Given the description of an element on the screen output the (x, y) to click on. 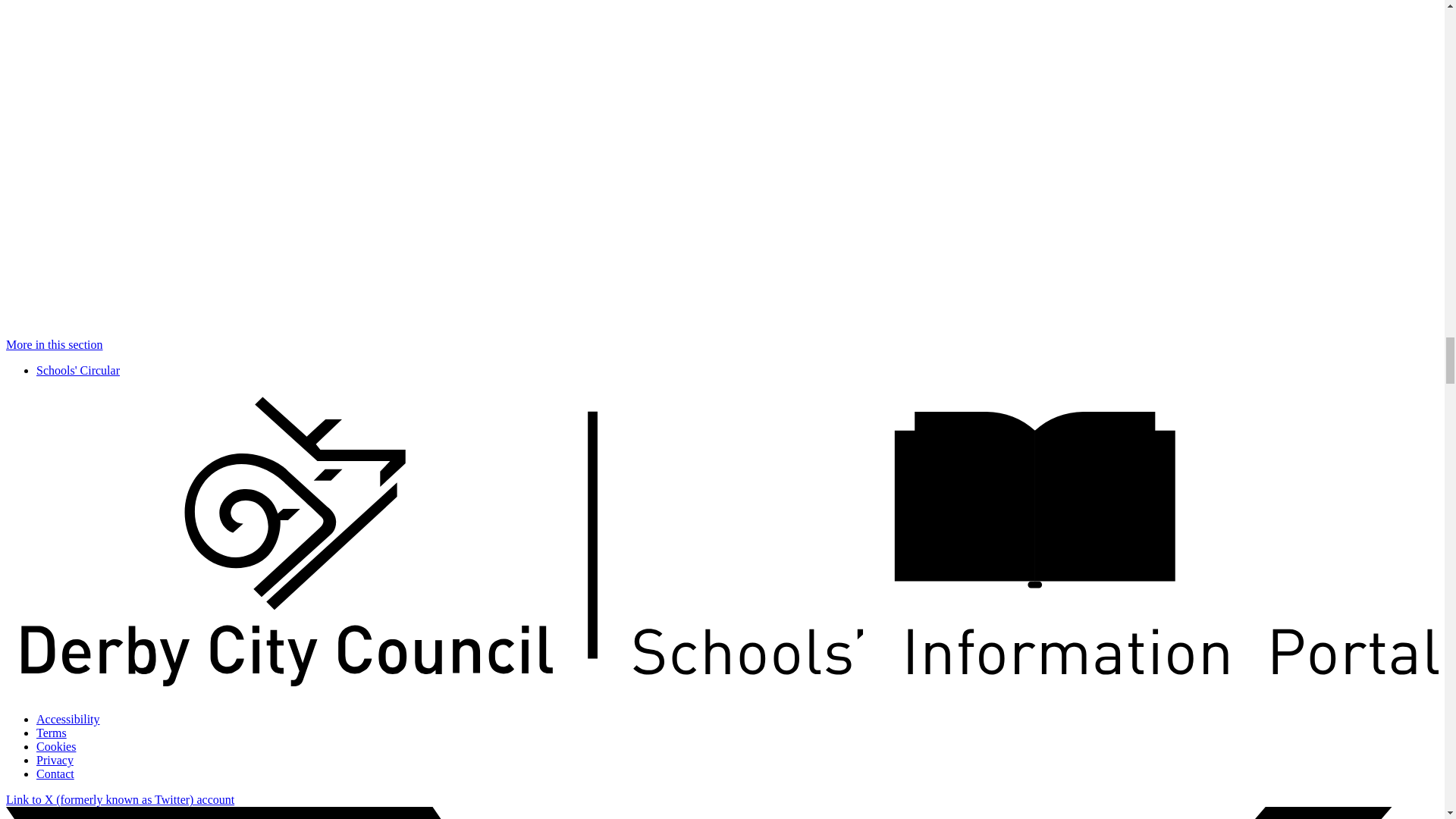
More in this section (54, 344)
